Given the description of an element on the screen output the (x, y) to click on. 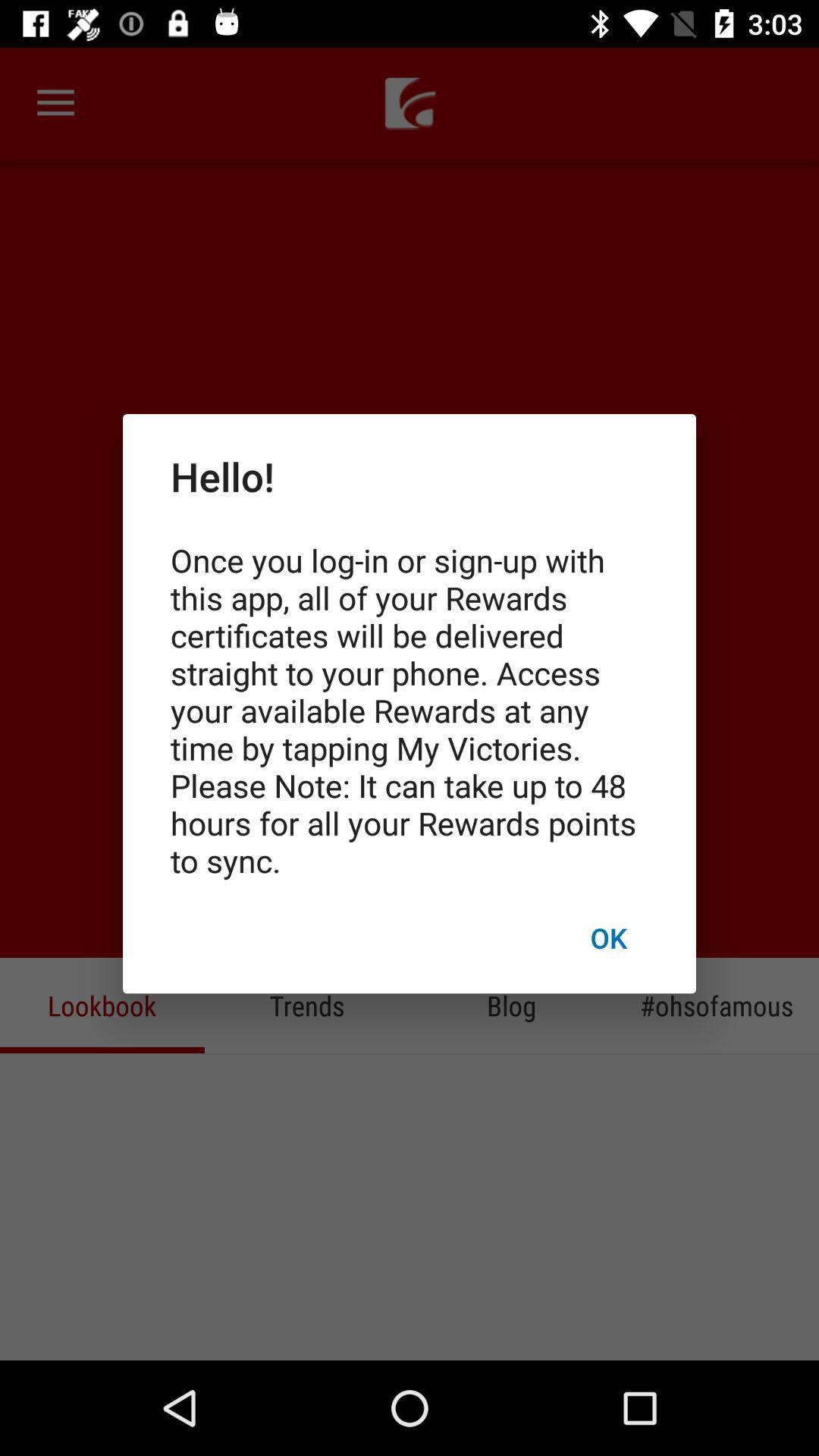
choose item on the right (608, 937)
